Given the description of an element on the screen output the (x, y) to click on. 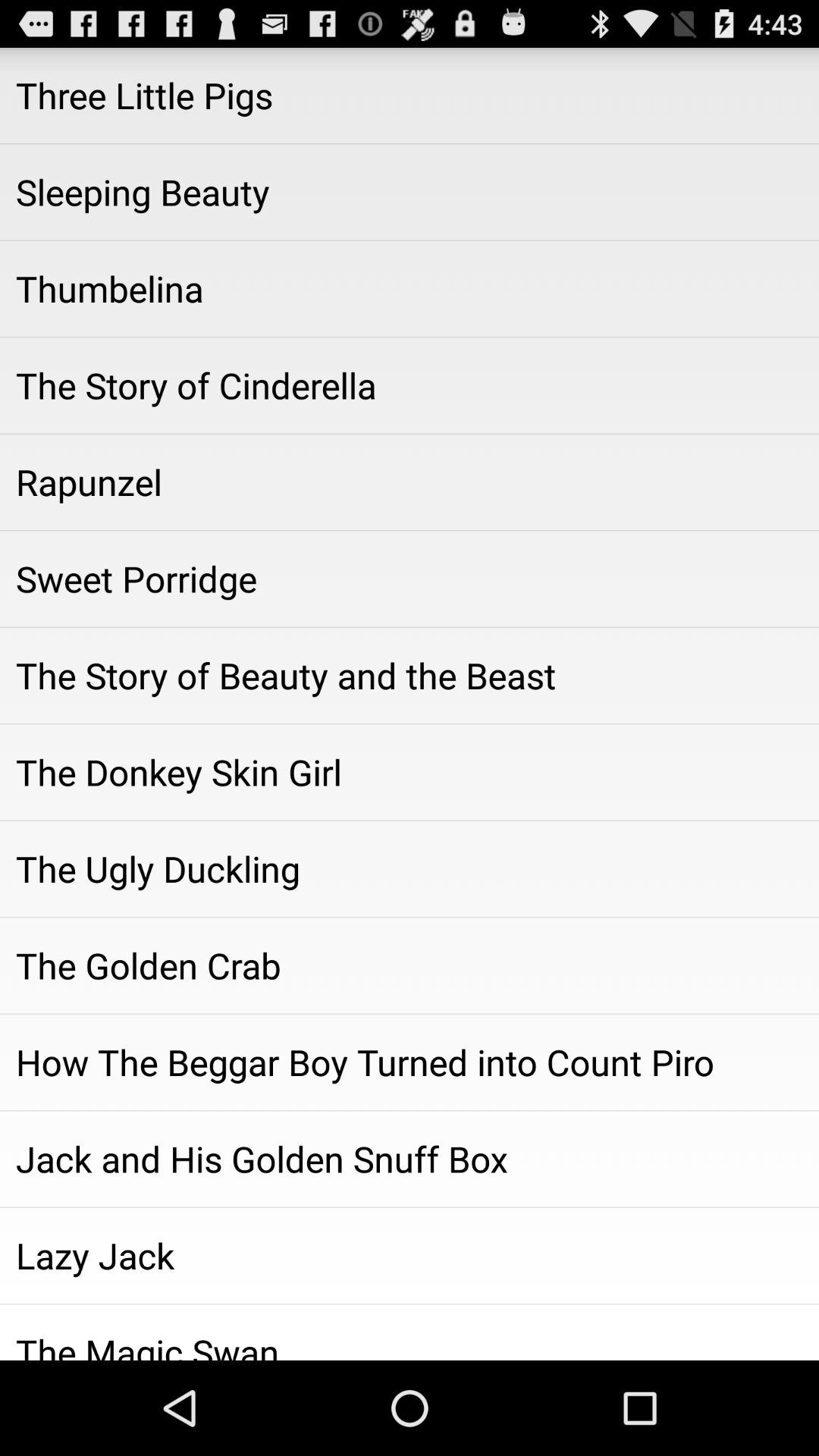
select lazy jack (409, 1255)
